Given the description of an element on the screen output the (x, y) to click on. 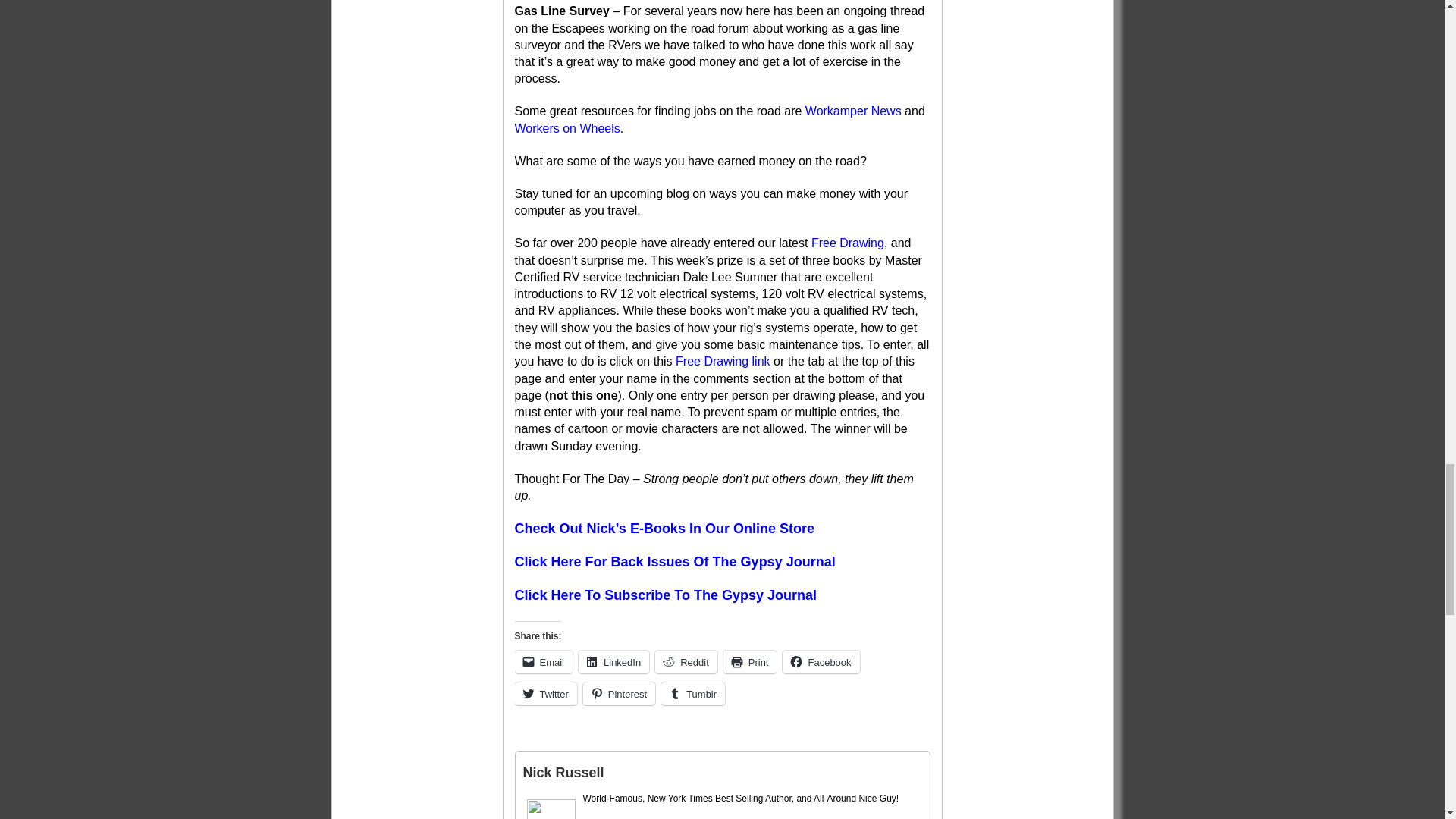
Facebook (821, 661)
Tumblr (693, 693)
Workers on Wheels (566, 128)
Free Drawing (846, 243)
Click Here For Back Issues Of The Gypsy Journal (673, 562)
Click to share on Reddit (686, 661)
Click to print (750, 661)
Click to share on Facebook (821, 661)
Click to share on Pinterest (619, 693)
Workamper News (853, 110)
